Given the description of an element on the screen output the (x, y) to click on. 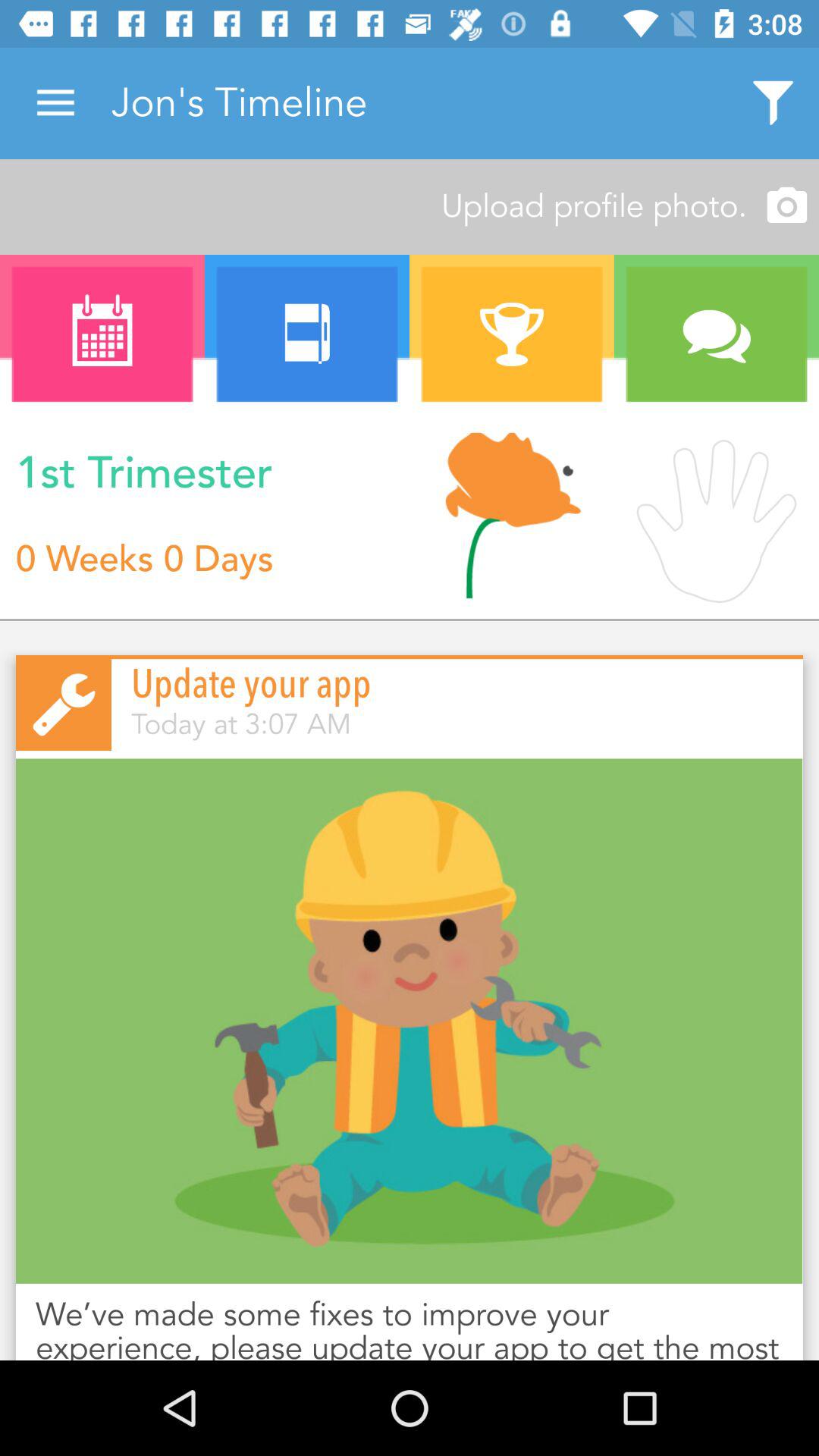
select the item above we ve made icon (409, 1020)
